Given the description of an element on the screen output the (x, y) to click on. 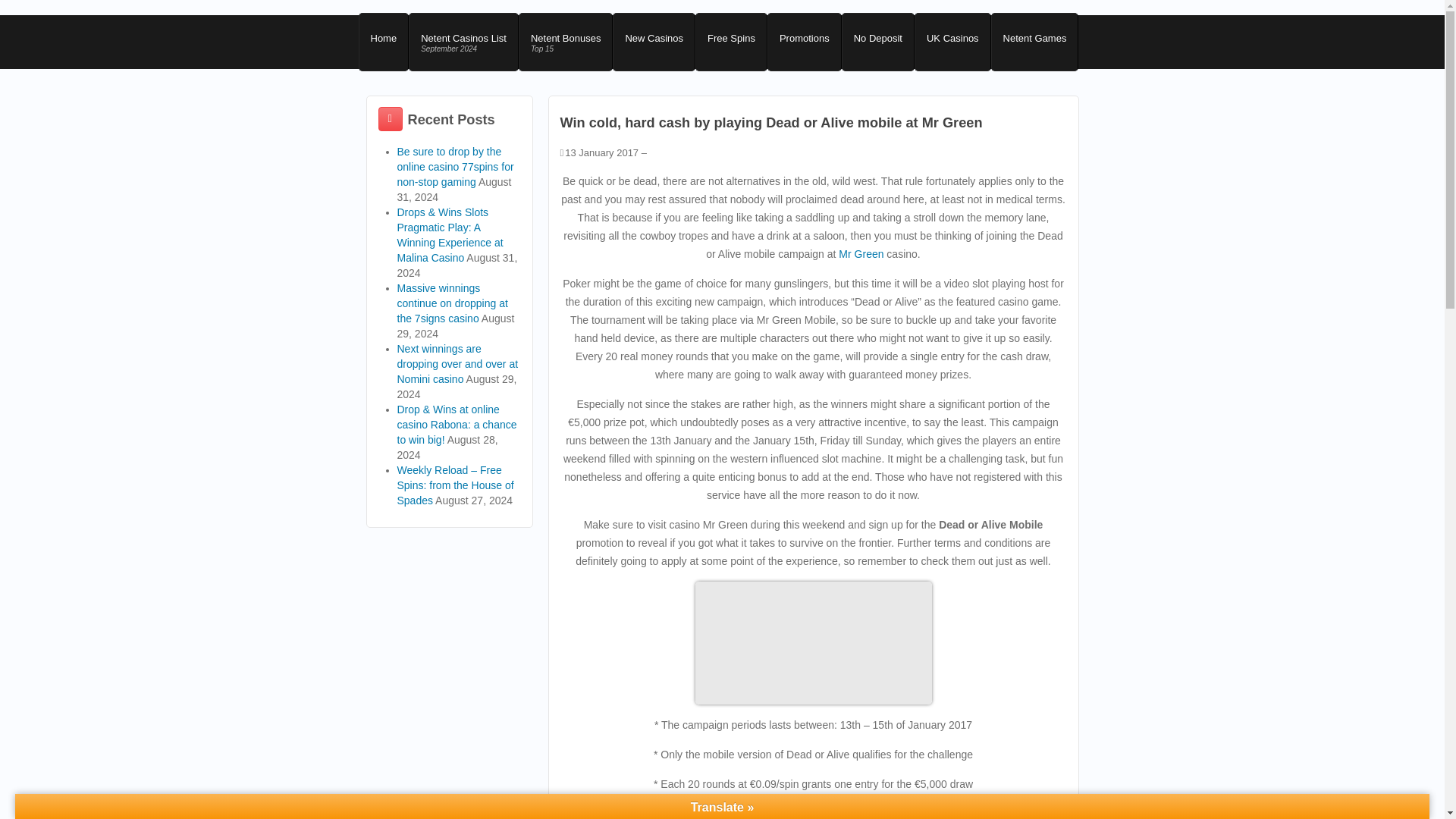
Massive winnings continue on dropping at the 7signs casino (452, 302)
Next winnings are dropping over and over at Nomini casino (457, 363)
UK Casinos (952, 42)
Mr Green (860, 254)
New Casinos (653, 42)
No Deposit (877, 42)
Free Spins (463, 42)
